Given the description of an element on the screen output the (x, y) to click on. 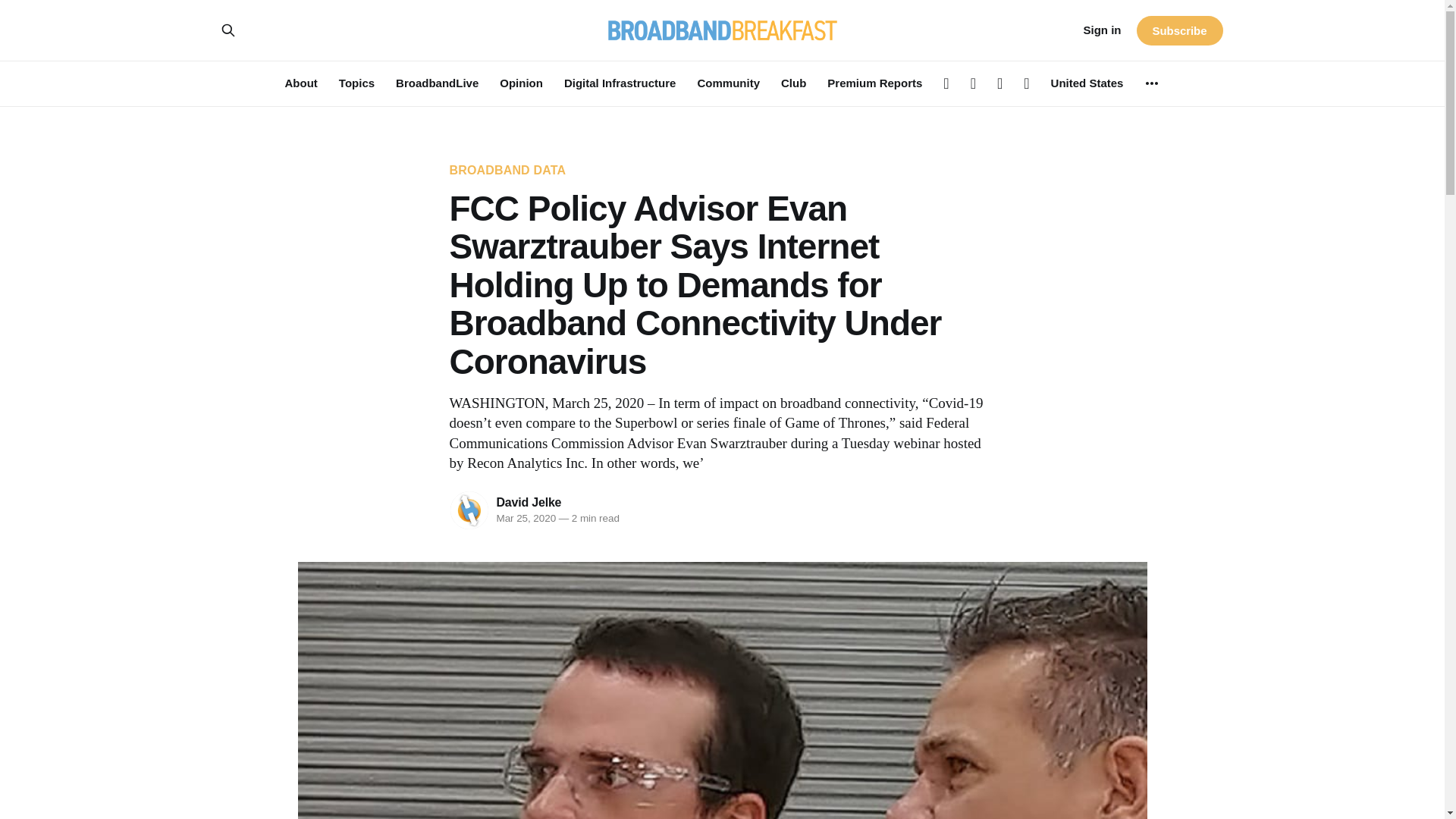
Community (728, 82)
Topics (356, 82)
Digital Infrastructure (620, 82)
BroadbandLive (437, 82)
Club (793, 82)
About (301, 82)
United States (1087, 82)
Premium Reports (874, 82)
Opinion (521, 82)
